Given the description of an element on the screen output the (x, y) to click on. 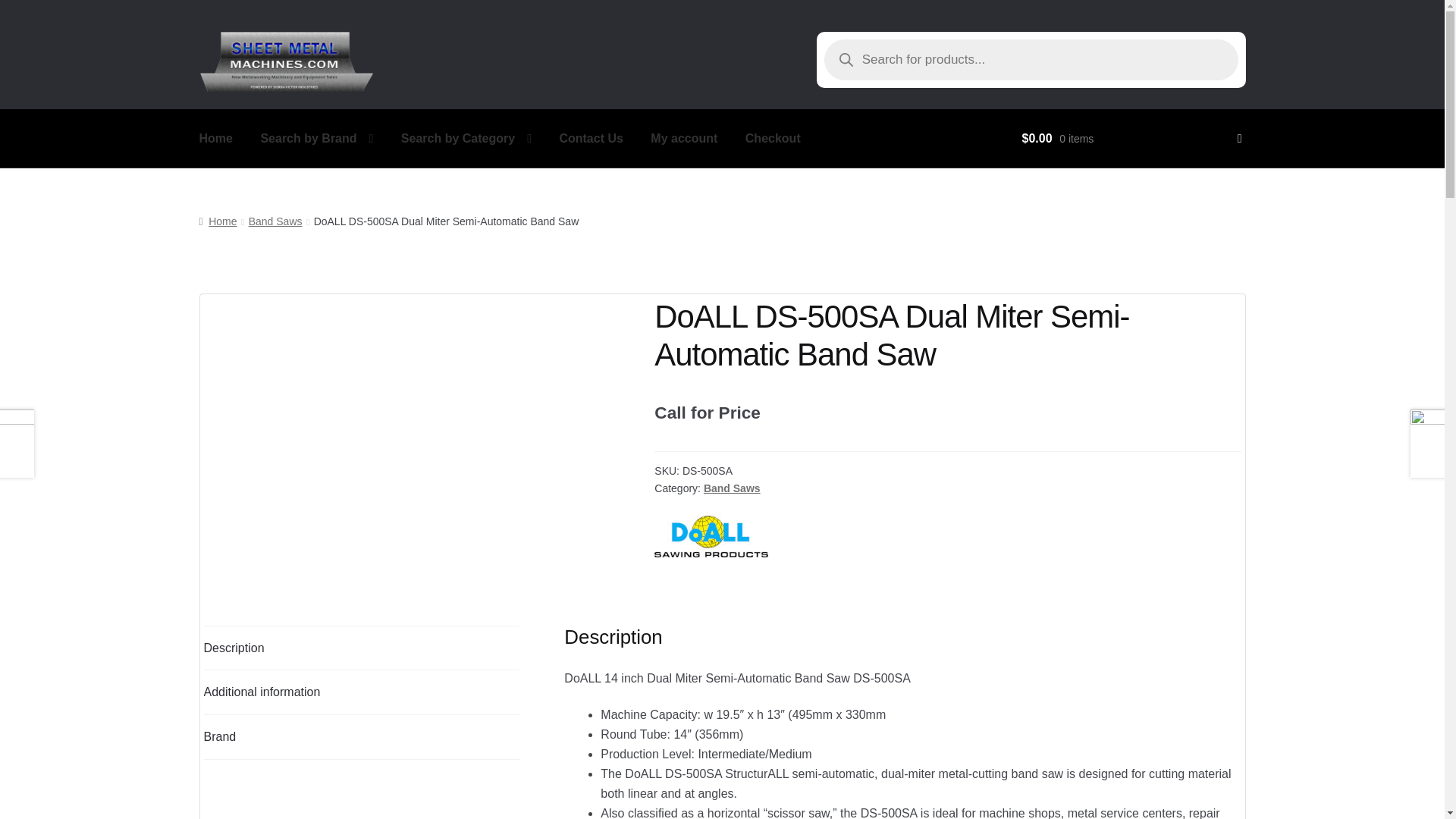
Home (215, 138)
Search by Brand (316, 138)
DoAll (710, 536)
Search by Category (465, 138)
View your shopping cart (1131, 138)
Search by Brand (316, 138)
